Given the description of an element on the screen output the (x, y) to click on. 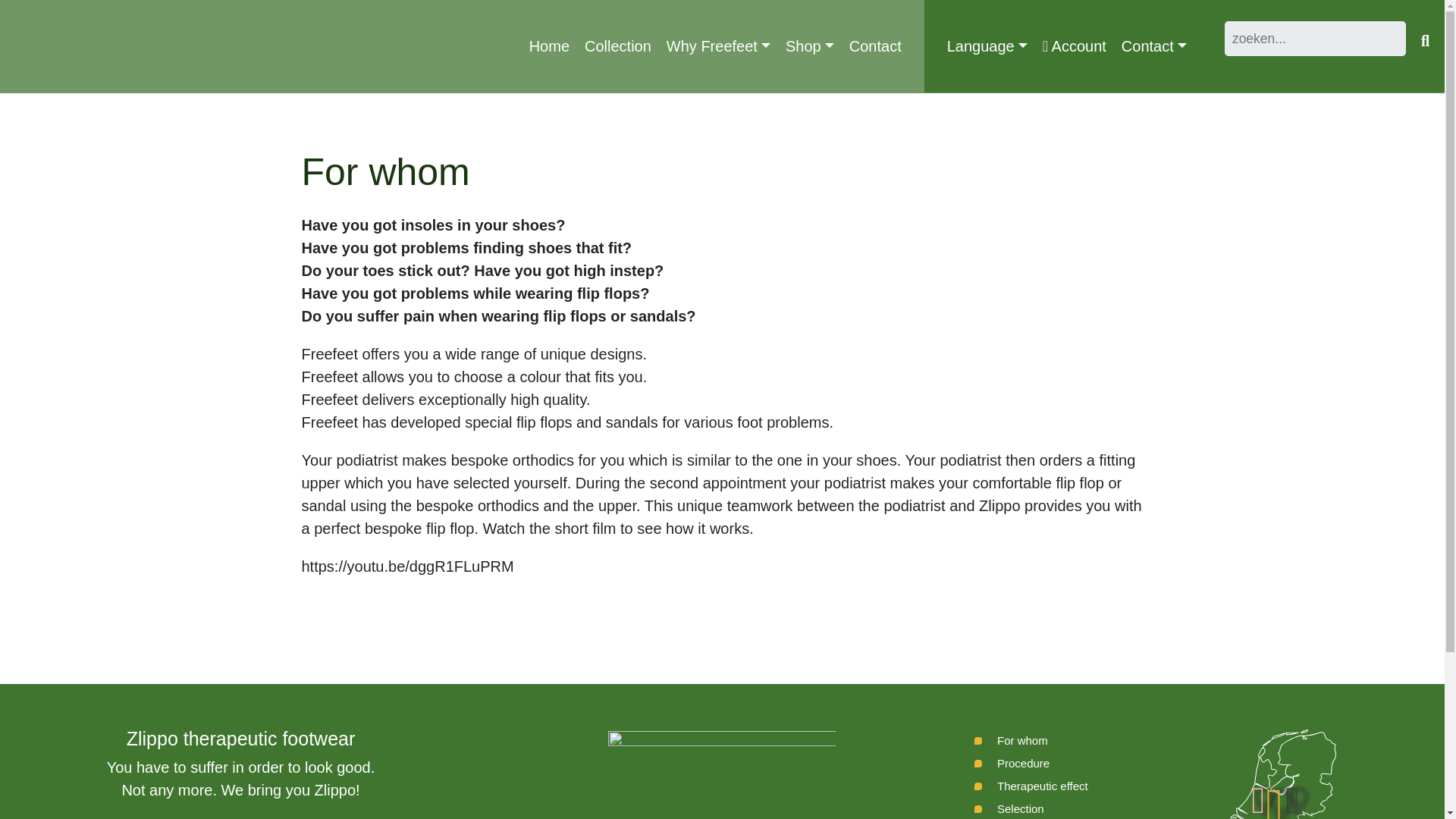
Therapeutic effect (1030, 785)
Why Freefeet (718, 46)
Language (987, 46)
Contact (874, 46)
For whom (1011, 740)
Home (548, 46)
Selection (1008, 808)
Contact (1153, 46)
Shop (809, 46)
Procedure (1011, 763)
Account (1074, 46)
FreeFeet EN (52, 46)
Home (548, 46)
Contact (874, 46)
Why Freefeet (718, 46)
